Given the description of an element on the screen output the (x, y) to click on. 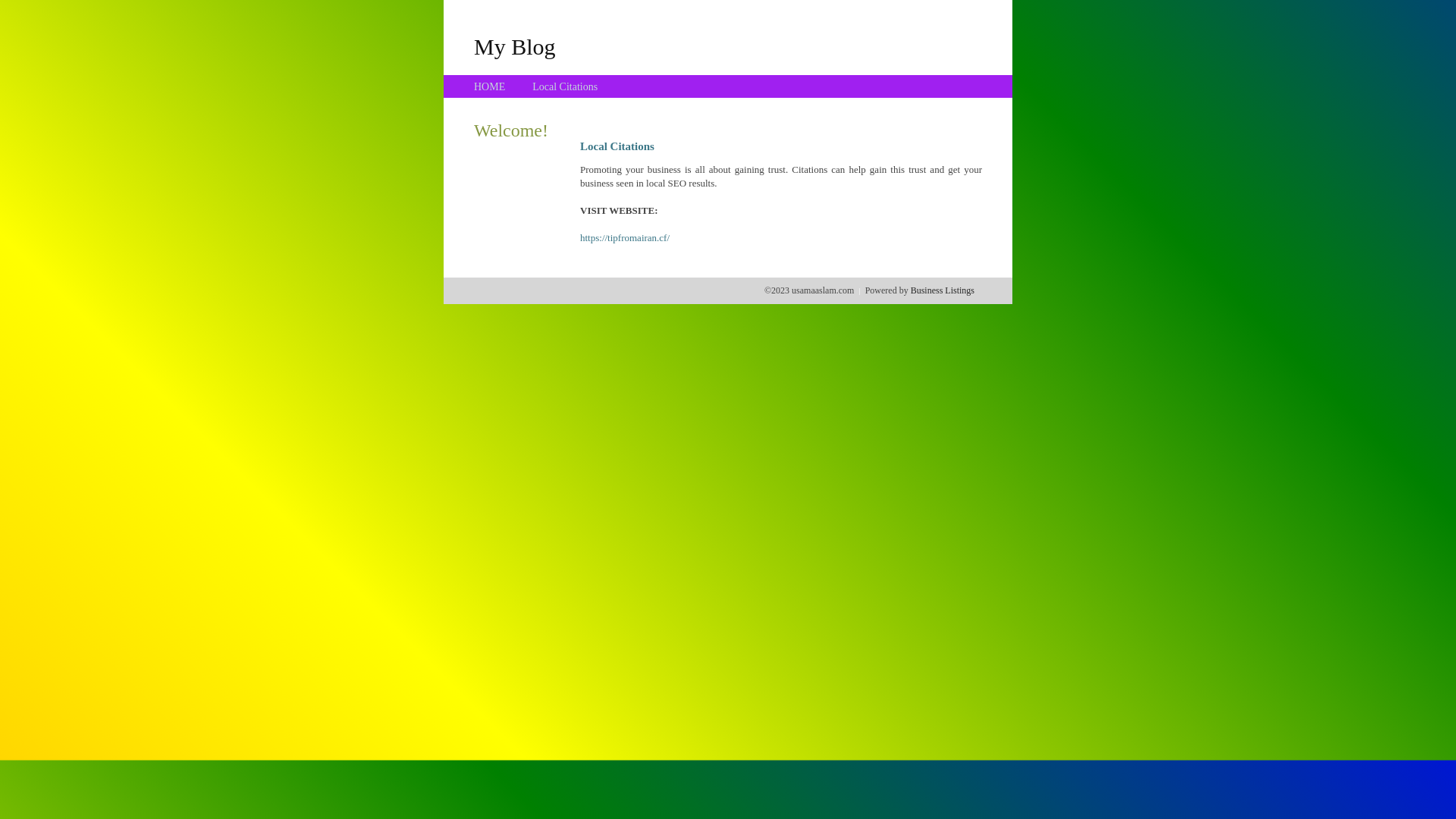
https://tipfromairan.cf/ Element type: text (624, 237)
Local Citations Element type: text (564, 86)
My Blog Element type: text (514, 46)
Business Listings Element type: text (942, 290)
HOME Element type: text (489, 86)
